Given the description of an element on the screen output the (x, y) to click on. 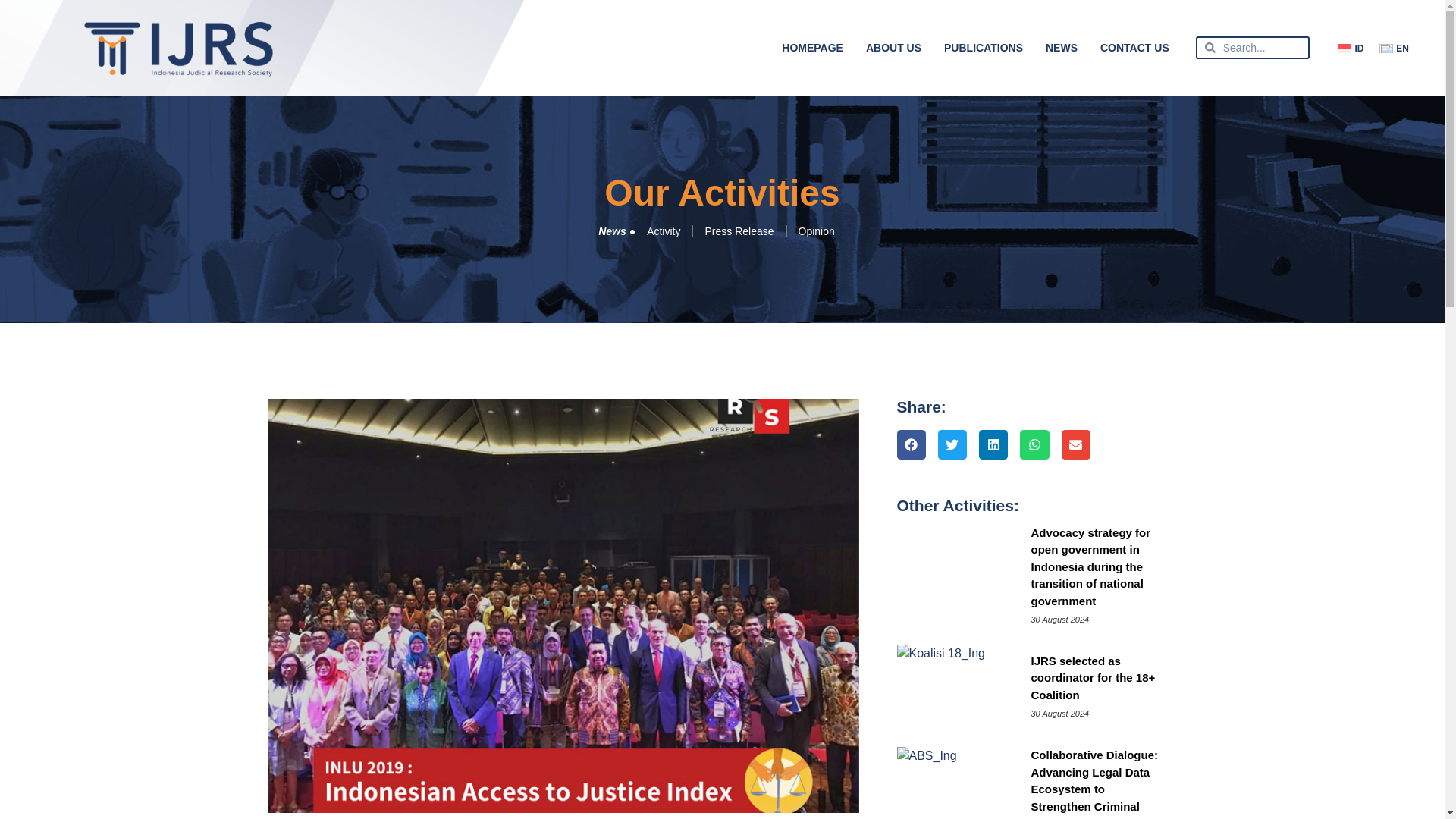
PUBLICATIONS (983, 47)
NEWS (1061, 47)
CONTACT US (1134, 47)
ABOUT US (893, 47)
HOMEPAGE (812, 47)
